Given the description of an element on the screen output the (x, y) to click on. 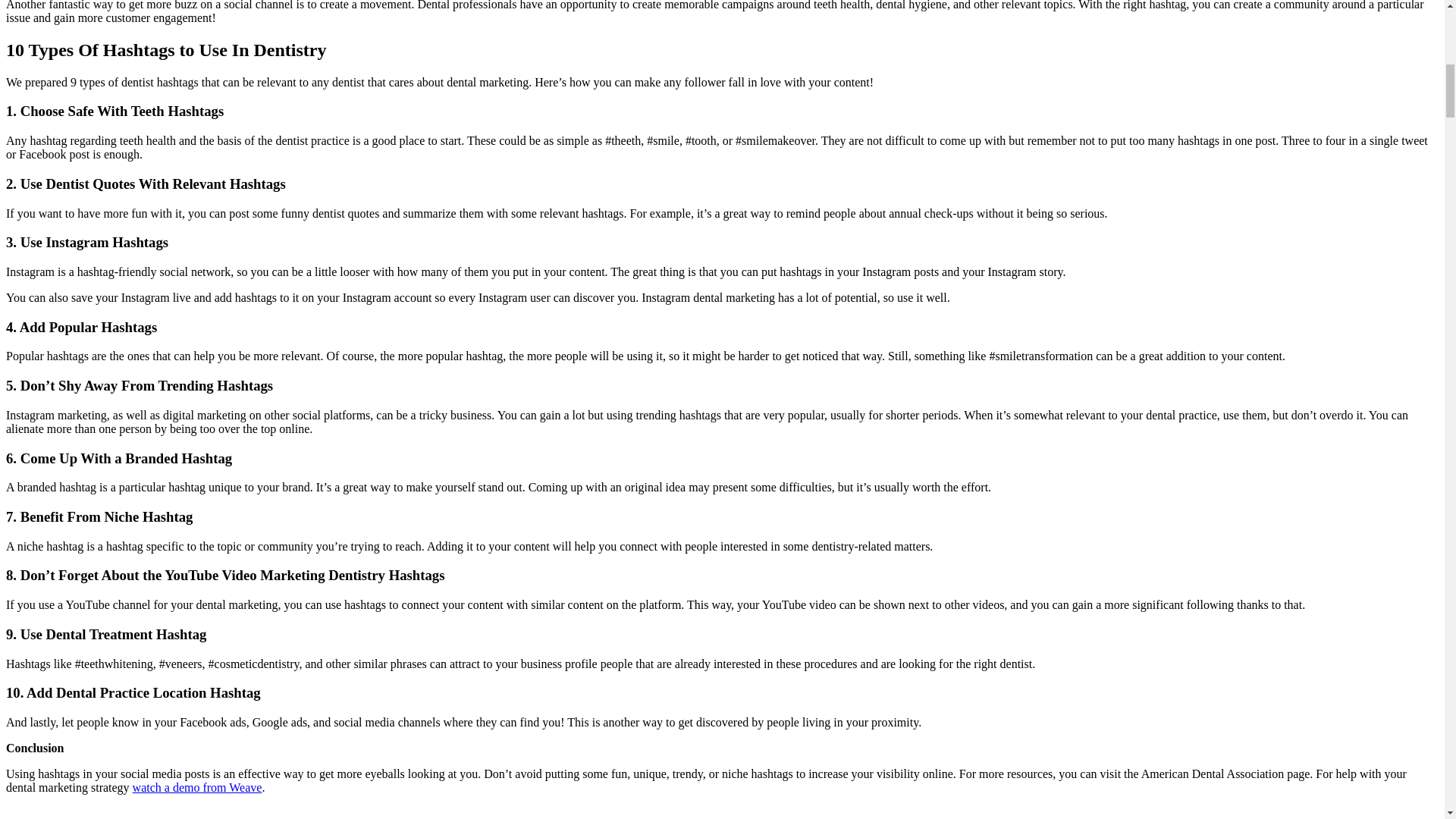
watch a demo from Weave (197, 787)
